Given the description of an element on the screen output the (x, y) to click on. 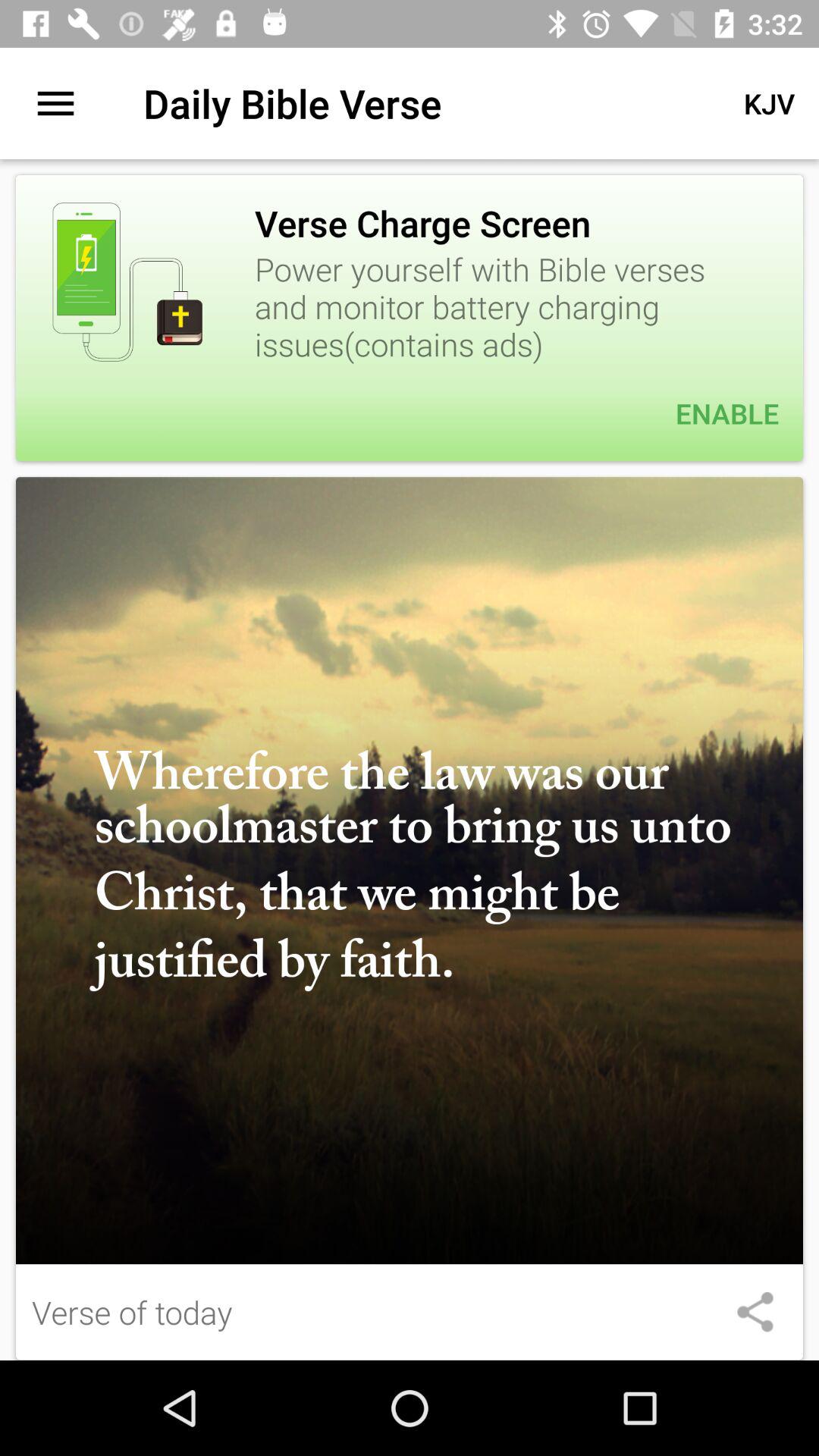
share content (755, 1311)
